Given the description of an element on the screen output the (x, y) to click on. 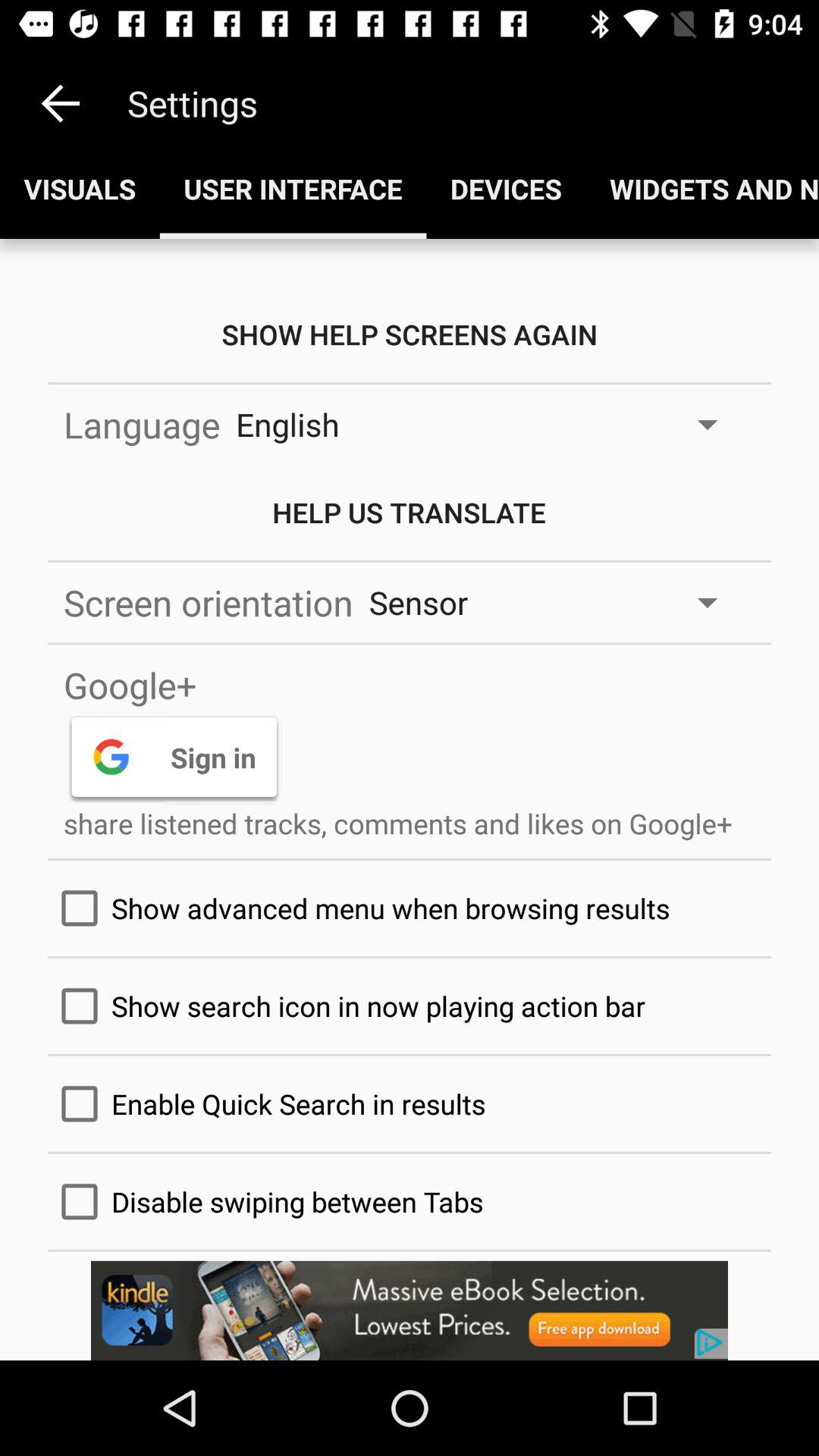
advertising area (409, 1310)
